Given the description of an element on the screen output the (x, y) to click on. 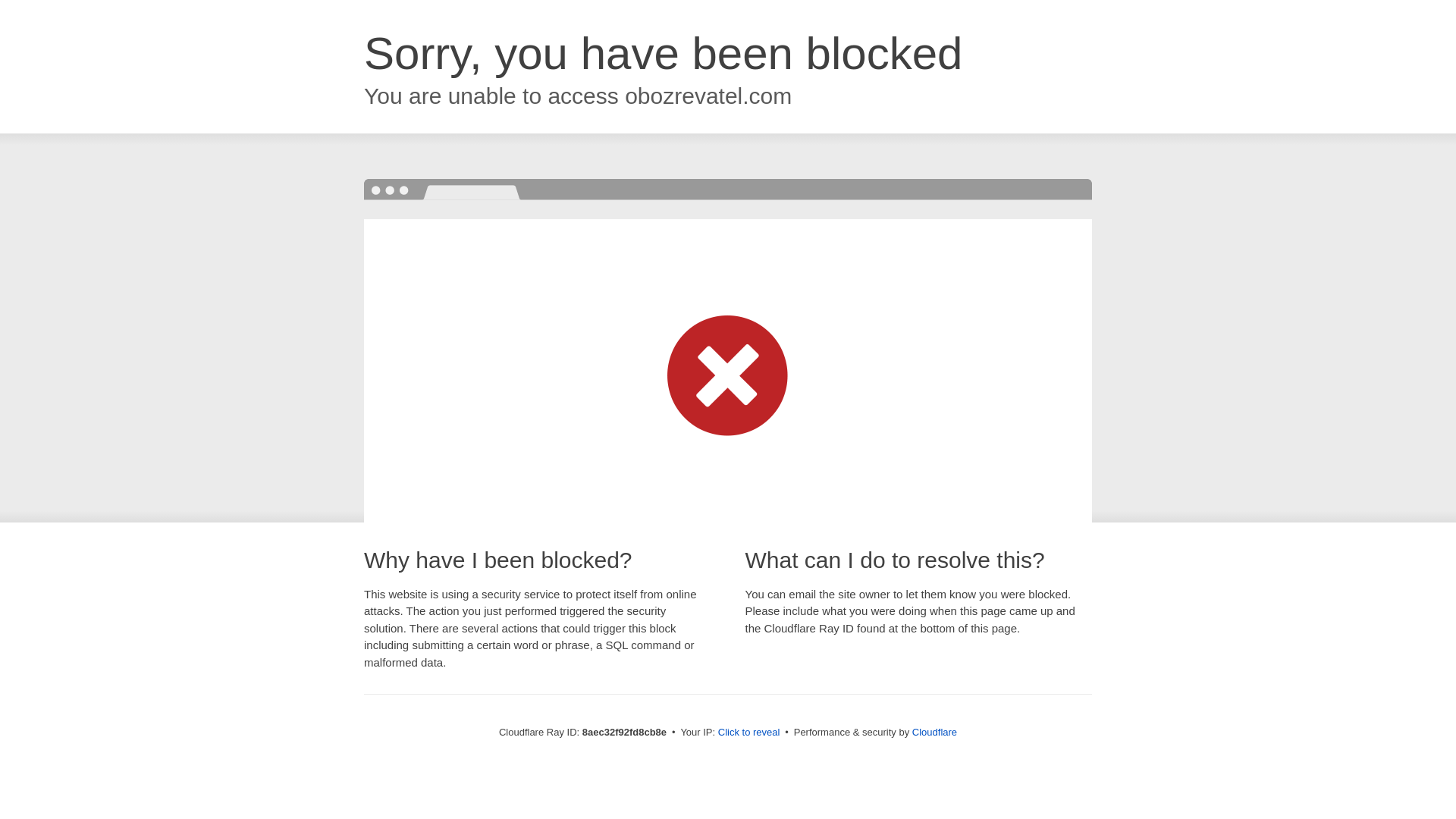
Click to reveal (748, 732)
Cloudflare (934, 731)
